Given the description of an element on the screen output the (x, y) to click on. 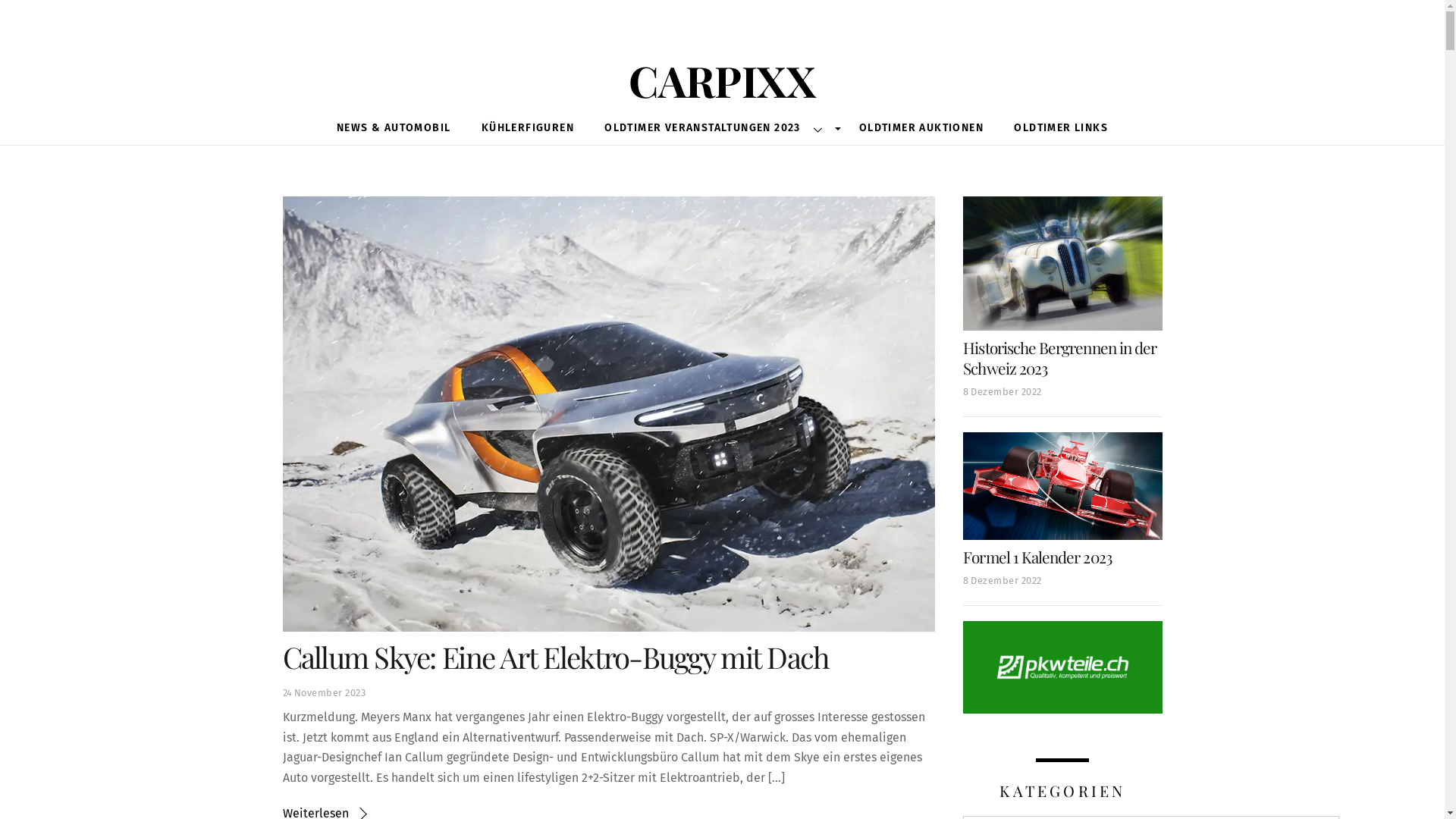
NEWS & AUTOMOBIL Element type: text (393, 128)
Bergrennen_2 Element type: hover (1062, 263)
OLDTIMER AUKTIONEN Element type: text (920, 128)
Formel 1 Kalender 2023 Element type: text (1036, 556)
OLDTIMER LINKS Element type: text (1060, 128)
Historische Bergrennen in der Schweiz 2023 Element type: text (1059, 357)
OLDTIMER VERANSTALTUNGEN 2023 Element type: text (716, 128)
Das Auto richtig pflegen mit pkwteile.ch Element type: hover (1062, 666)
Callum Skye: Eine Art Elektro-Buggy mit Dach Element type: text (555, 656)
AdobeStock_27777089_1000 Element type: hover (1062, 486)
carpixx Element type: text (721, 71)
